Given the description of an element on the screen output the (x, y) to click on. 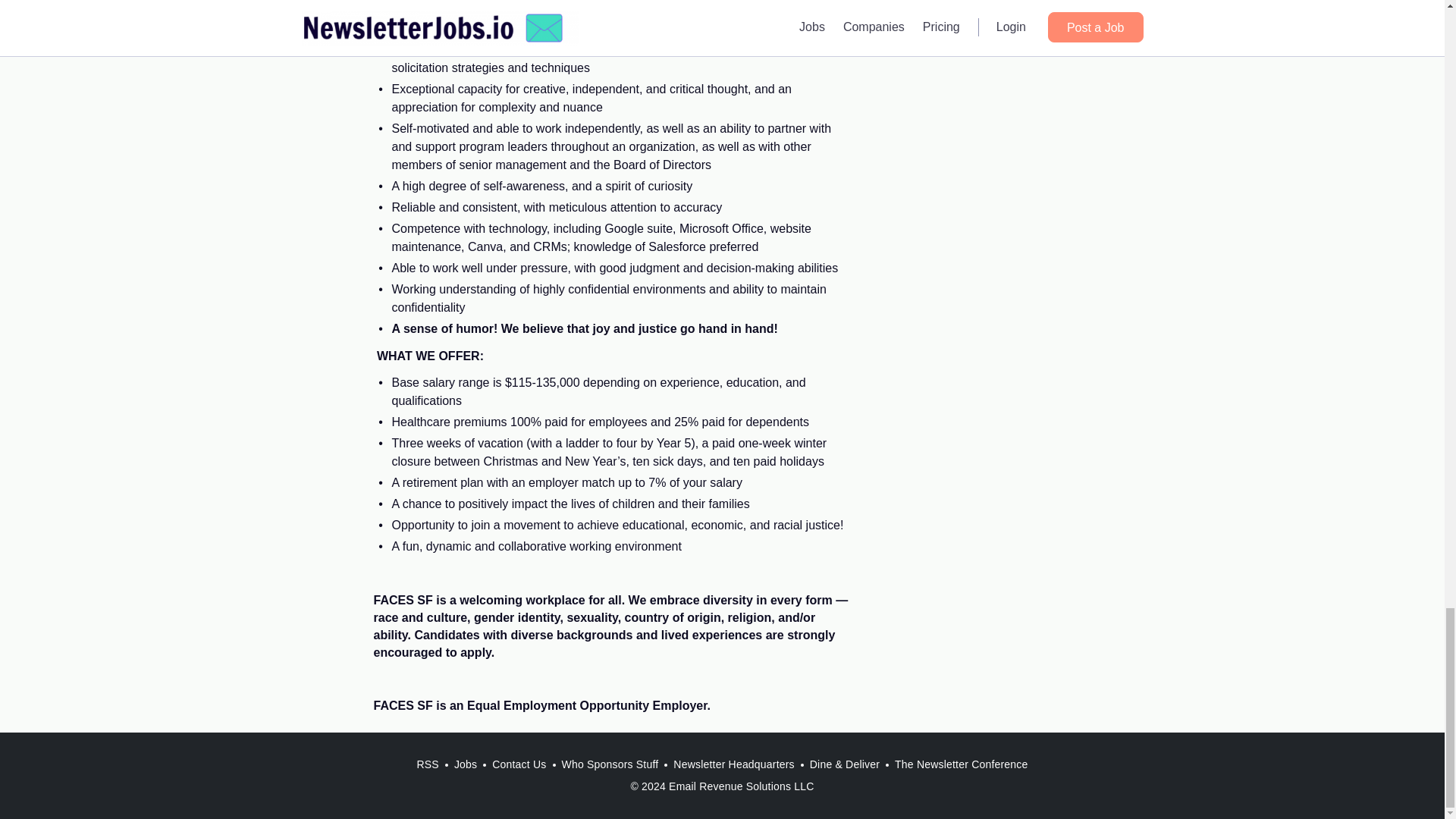
Jobs (465, 764)
The Newsletter Conference (960, 764)
Newsletter Headquarters (733, 764)
RSS (427, 764)
Who Sponsors Stuff (609, 764)
Contact Us (518, 764)
